Given the description of an element on the screen output the (x, y) to click on. 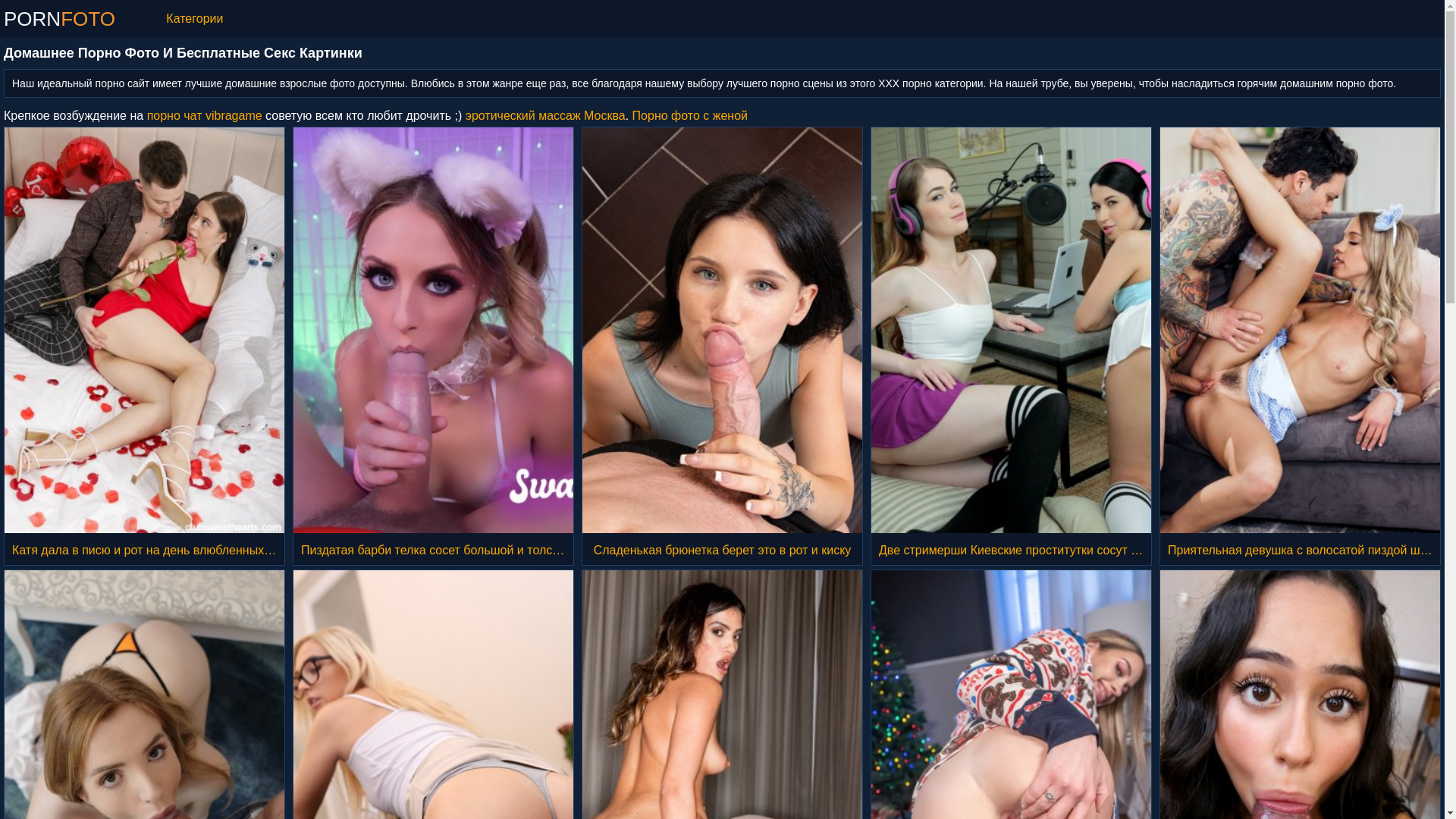
PORNFOTO Element type: text (59, 18)
